Given the description of an element on the screen output the (x, y) to click on. 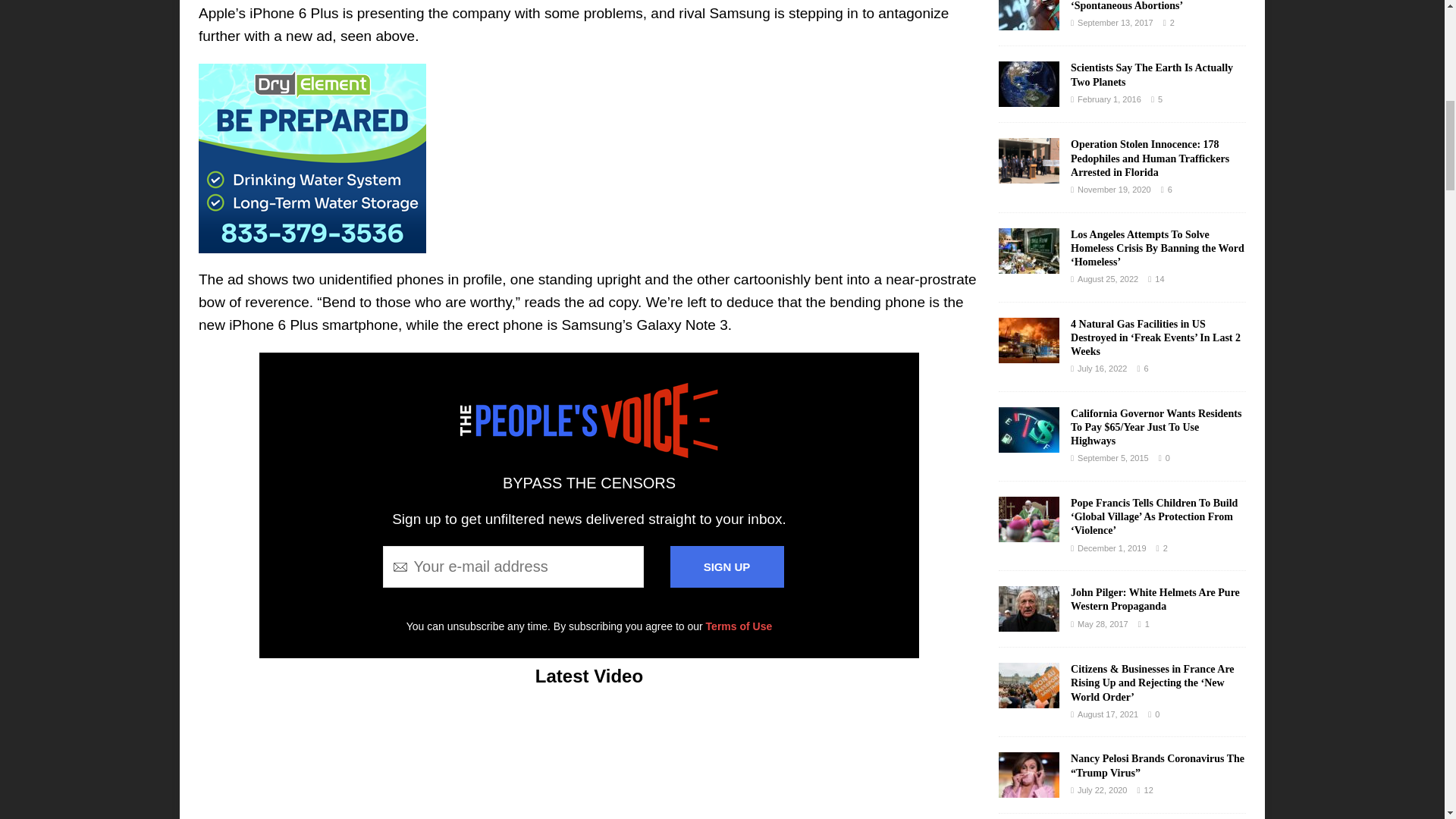
SIGN UP (726, 567)
